Given the description of an element on the screen output the (x, y) to click on. 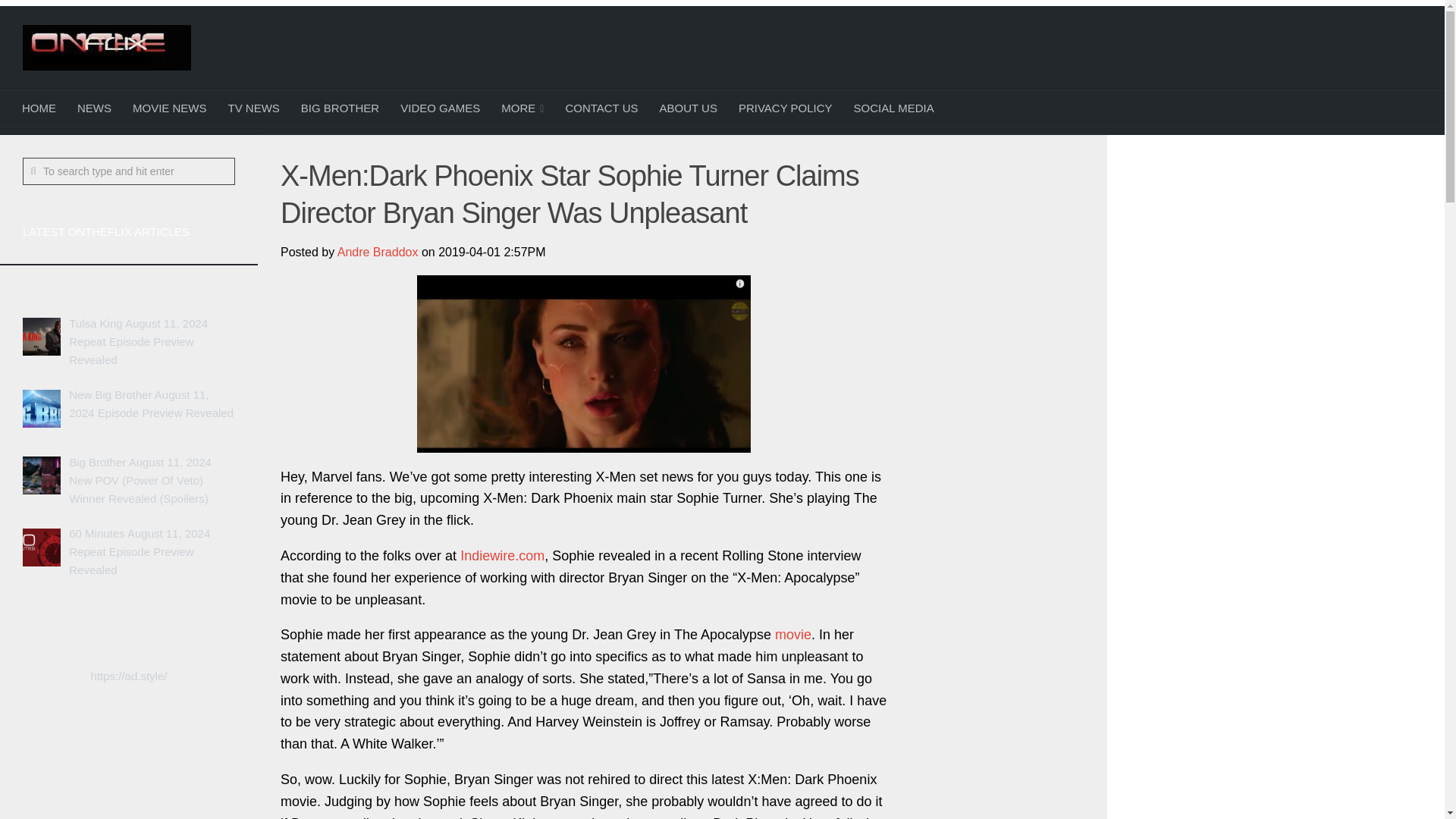
To search type and hit enter (128, 171)
MOVIE NEWS (169, 108)
MORE (522, 108)
To search type and hit enter (128, 171)
Indiewire.com (502, 555)
Andre Braddox (378, 251)
BIG BROTHER (339, 108)
PRIVACY POLICY (785, 108)
TV NEWS (252, 108)
VIDEO GAMES (440, 108)
